Given the description of an element on the screen output the (x, y) to click on. 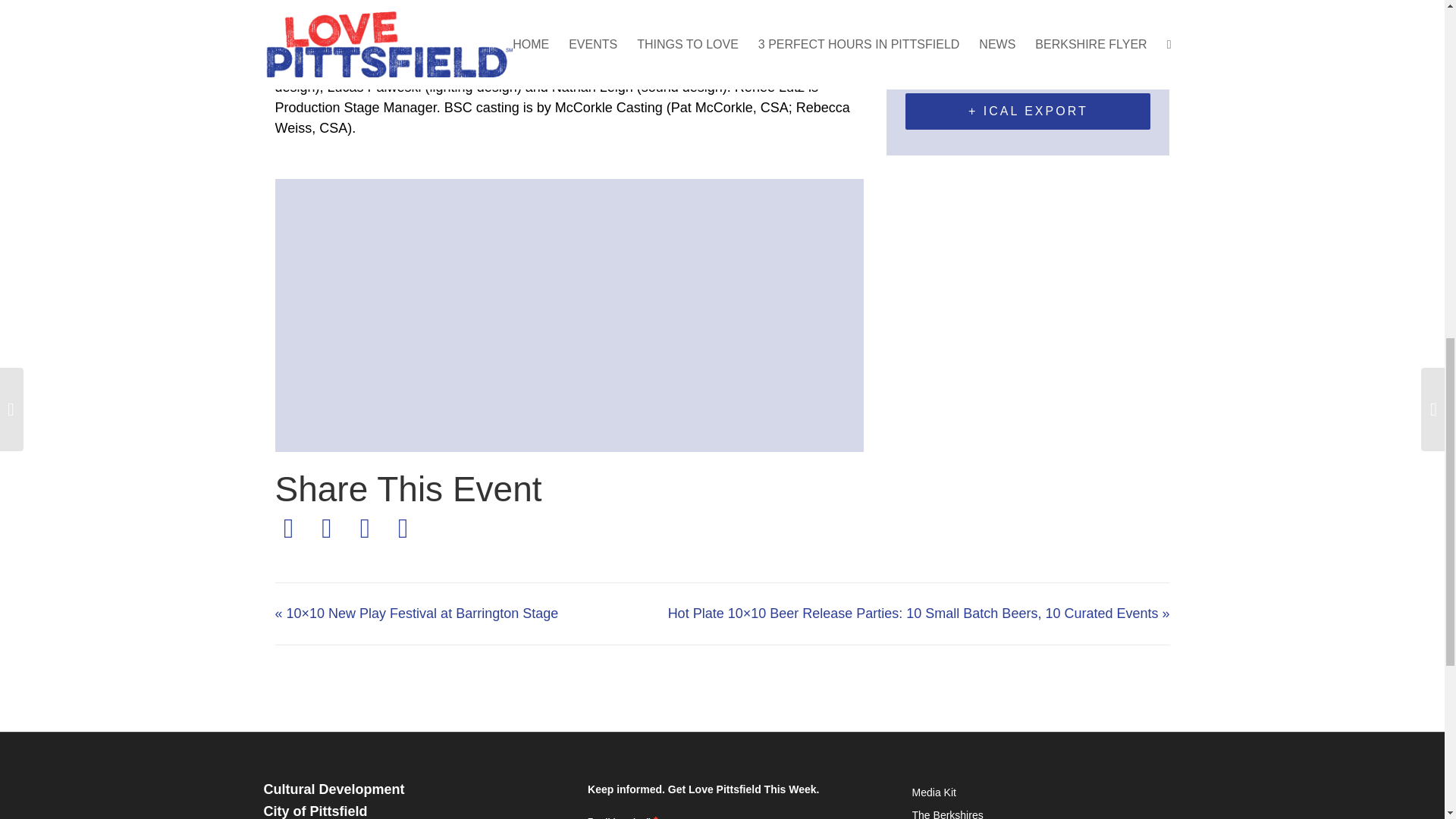
Download .ics file (1027, 111)
Add to Google Calendar (1027, 67)
Facebook (291, 528)
WhatsApp (403, 528)
Email (365, 528)
Twitter (326, 528)
